Given the description of an element on the screen output the (x, y) to click on. 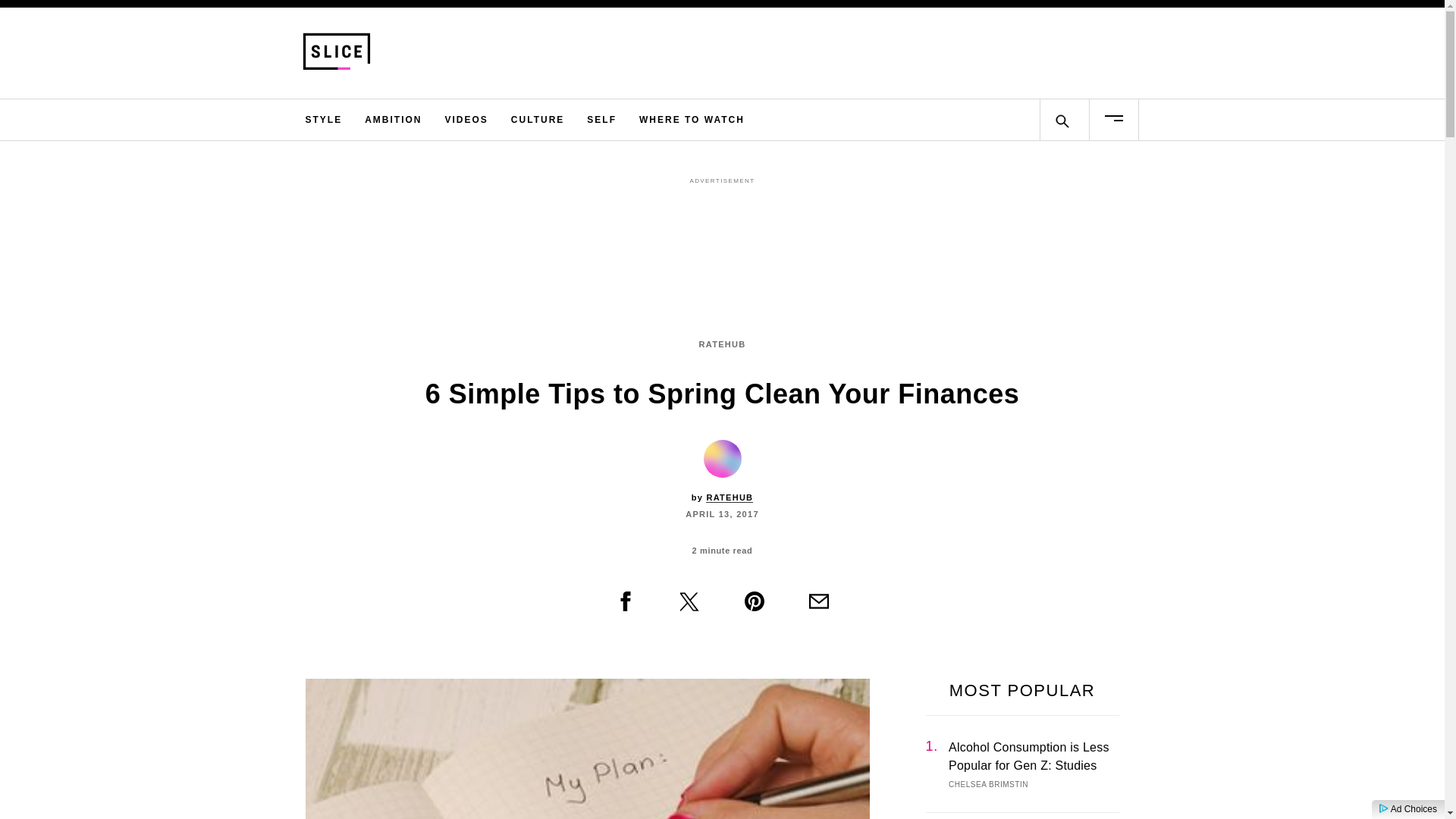
slice (437, 52)
Ambition (393, 118)
STYLE (323, 118)
Where to Watch (691, 118)
Toggle the main menu (1113, 119)
Culture (537, 118)
Style (323, 118)
SELF (600, 118)
Videos (465, 118)
VIDEOS (465, 118)
